Given the description of an element on the screen output the (x, y) to click on. 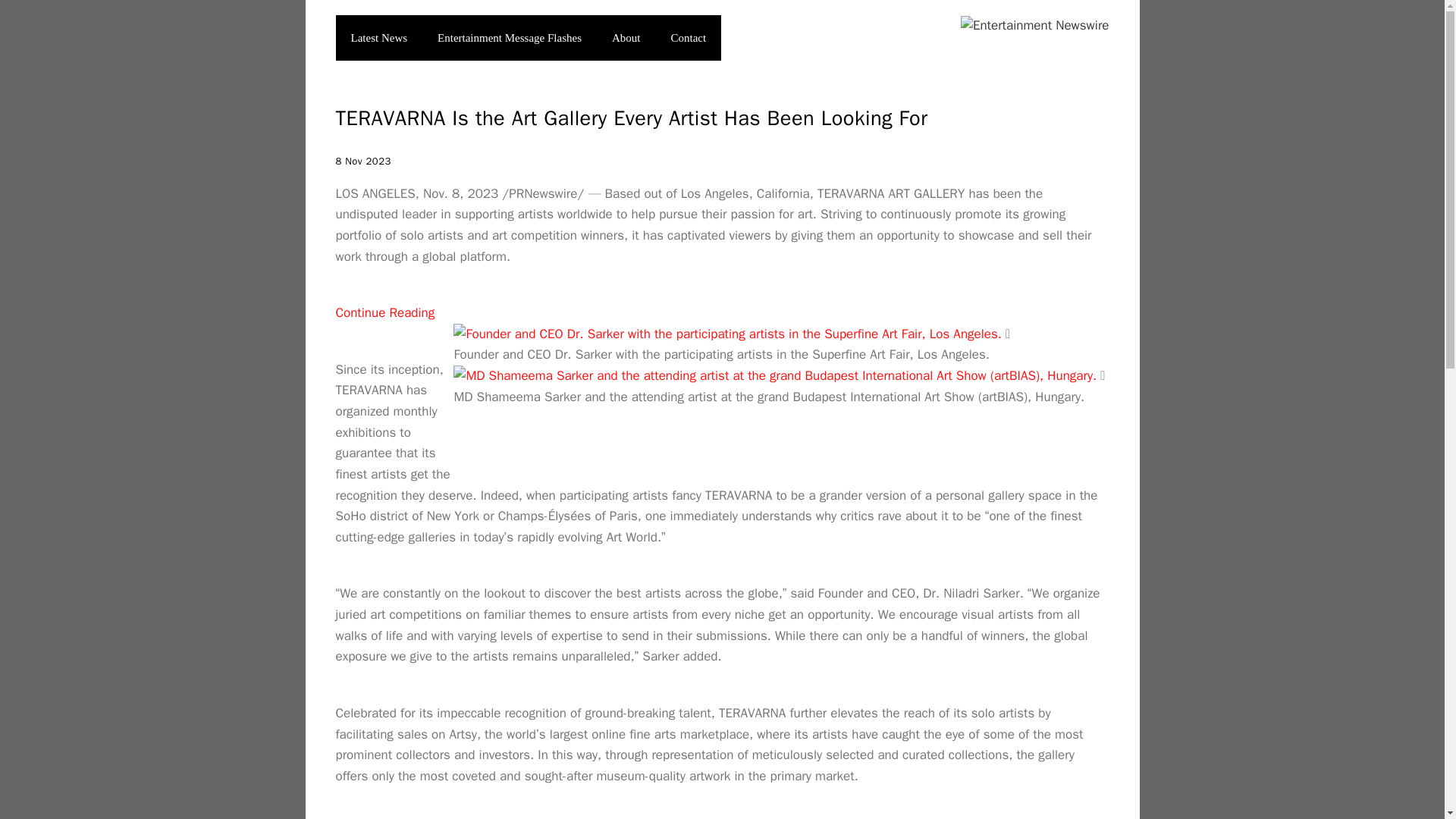
Continue Reading (383, 312)
About (626, 37)
Contact (689, 37)
Continue Reading (383, 312)
Entertainment Message Flashes (509, 37)
Latest News (378, 37)
